Given the description of an element on the screen output the (x, y) to click on. 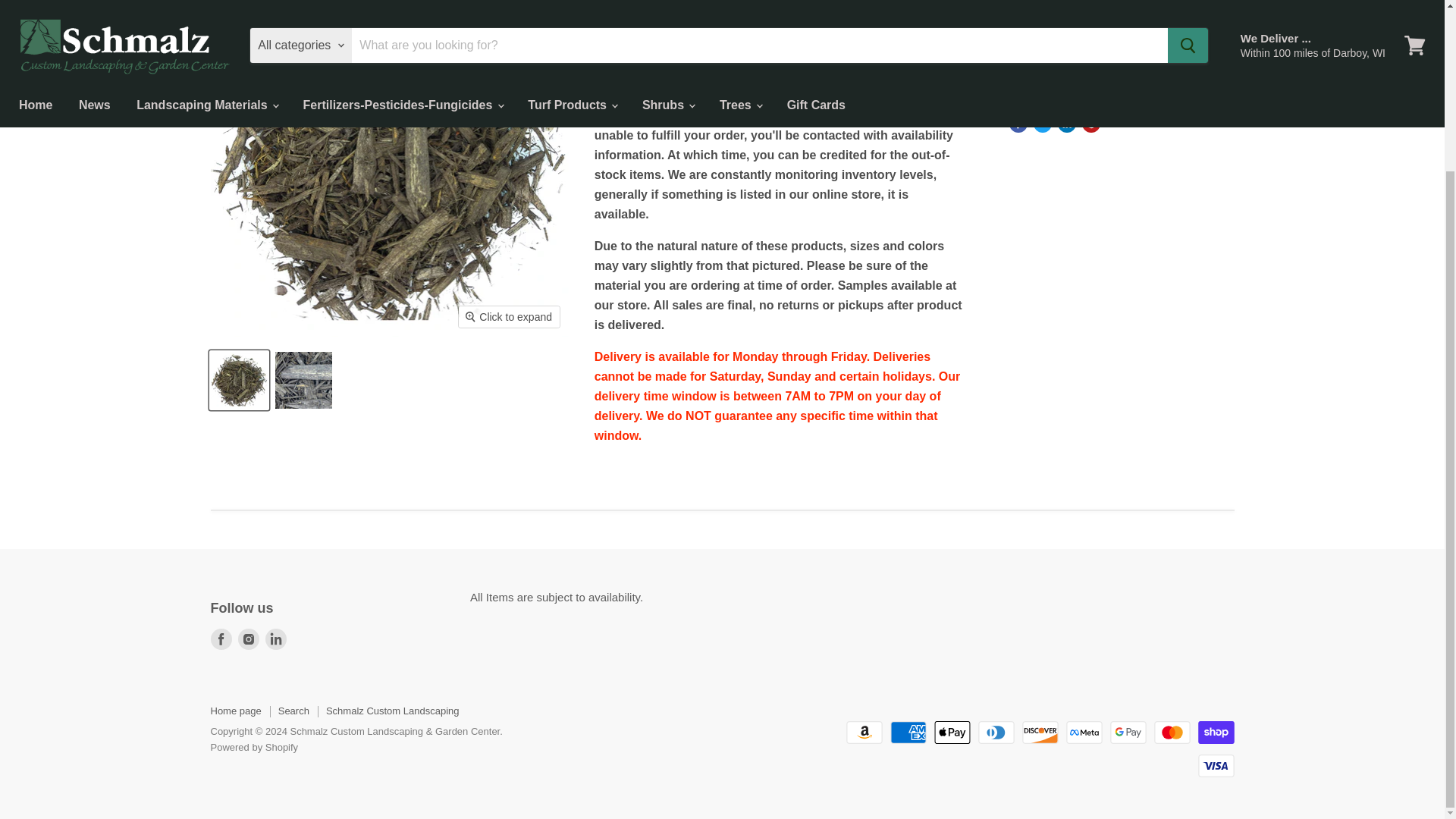
LinkedIn (275, 639)
Facebook (221, 639)
Instagram (248, 639)
